Given the description of an element on the screen output the (x, y) to click on. 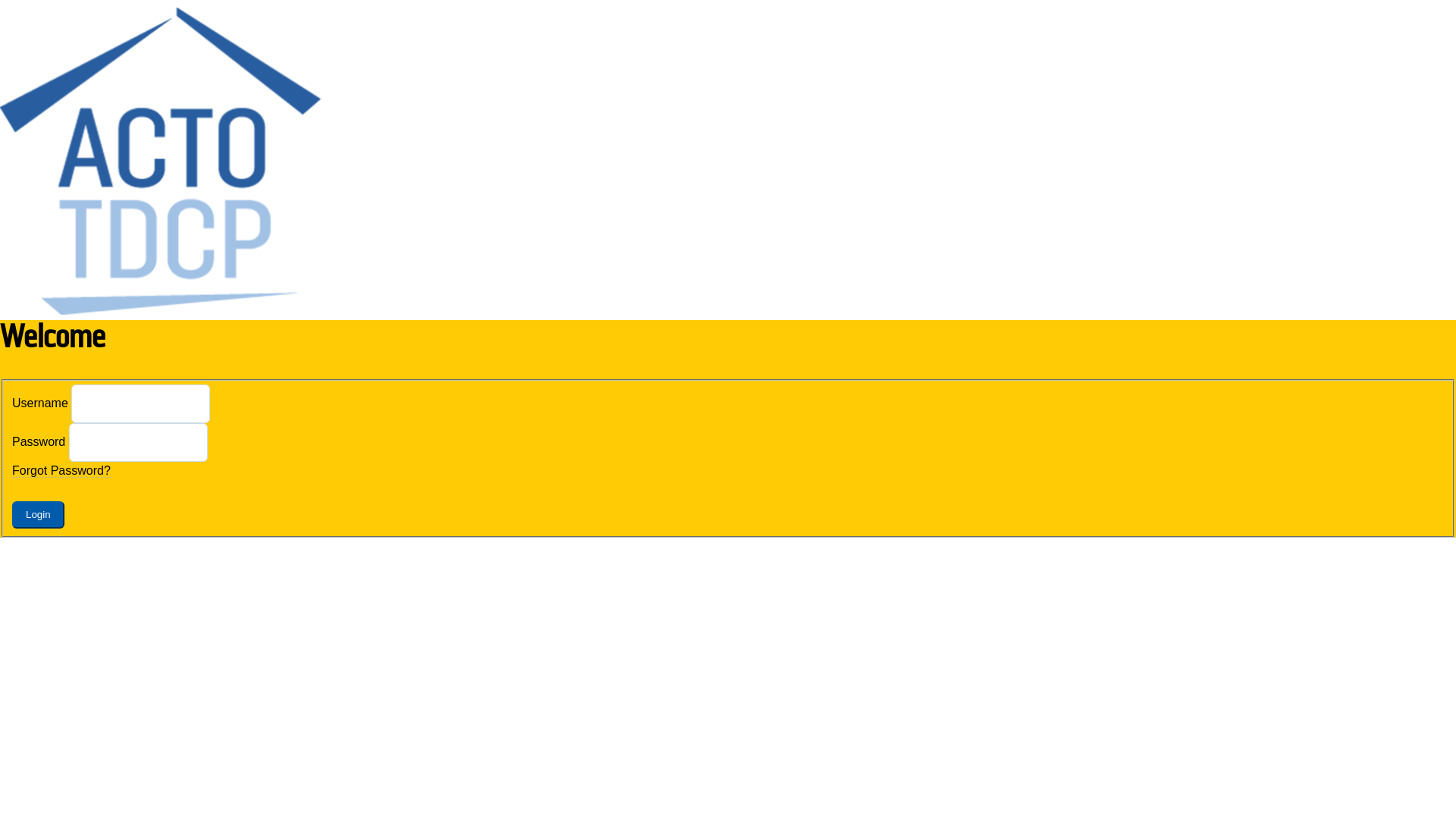
Forgot Password? Element type: text (61, 470)
Login Element type: text (38, 514)
